Given the description of an element on the screen output the (x, y) to click on. 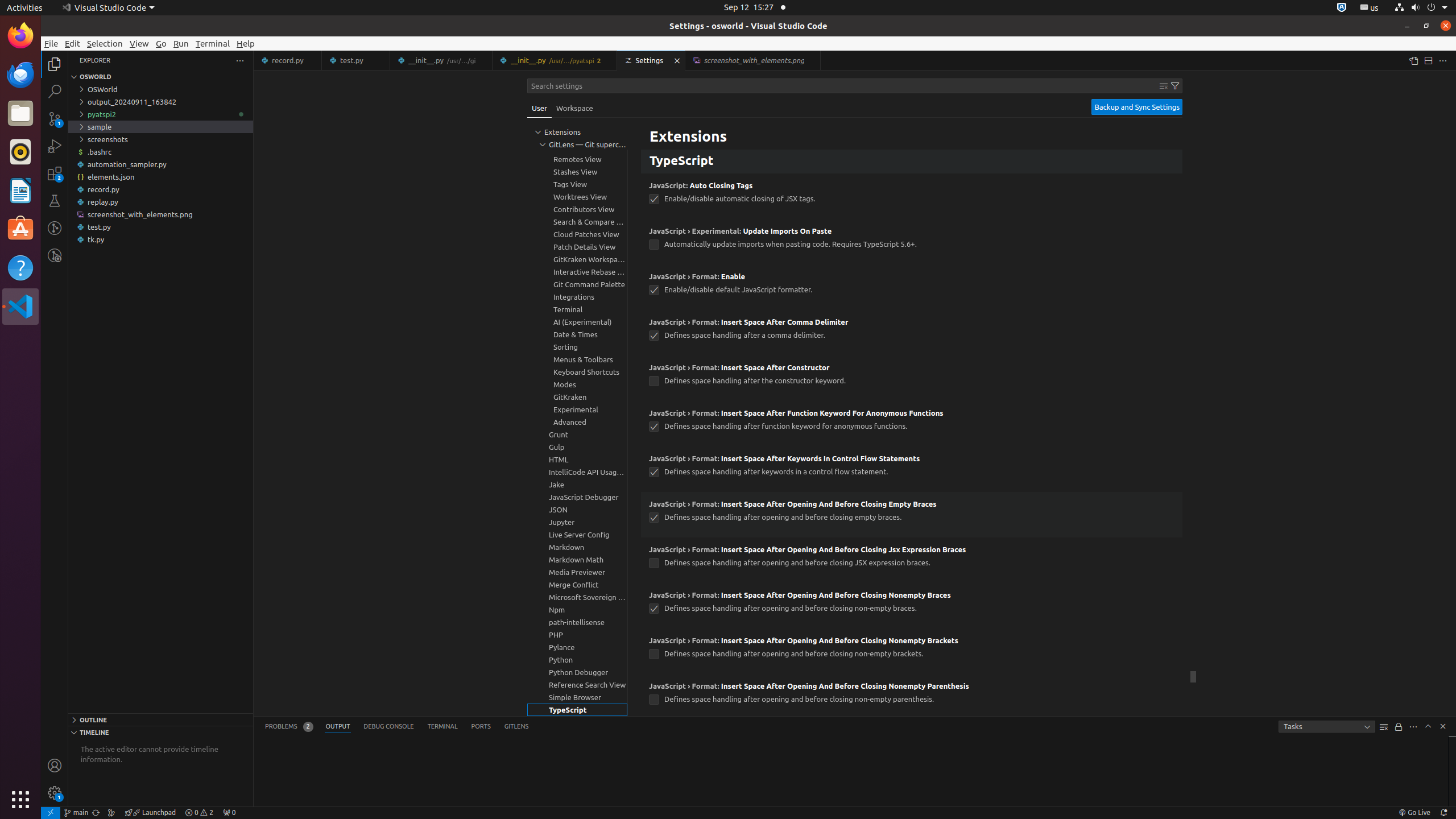
JavaScript › Format Insert Space After Function Keyword For Anonymous Functions. Defines space handling after function keyword for anonymous functions.  Element type: tree-item (911, 423)
remote Element type: push-button (50, 812)
Visual File History, group Element type: tree-item (577, 121)
AI (Experimental), group Element type: tree-item (577, 321)
